Given the description of an element on the screen output the (x, y) to click on. 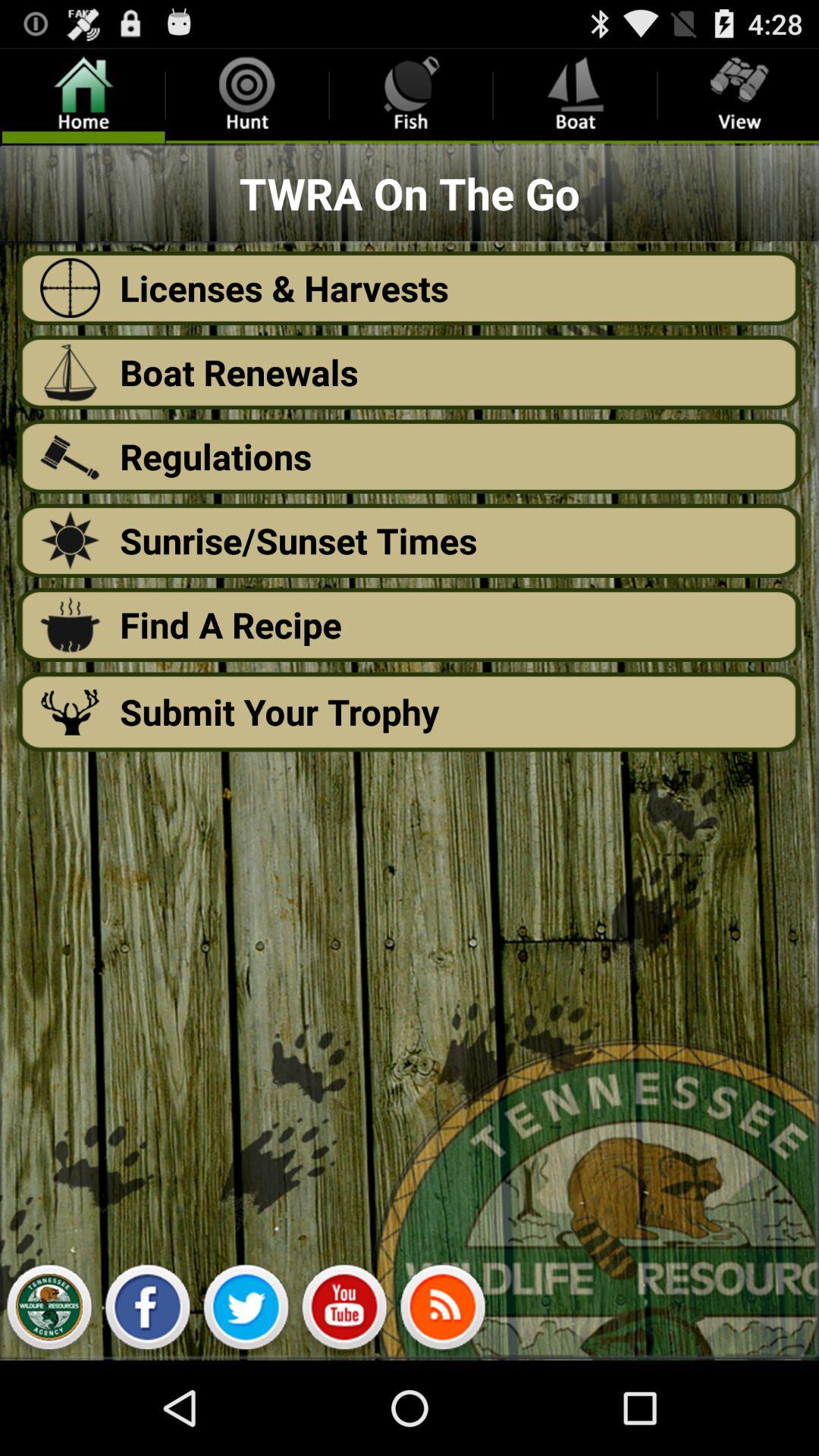
select the facebook (147, 1311)
